Given the description of an element on the screen output the (x, y) to click on. 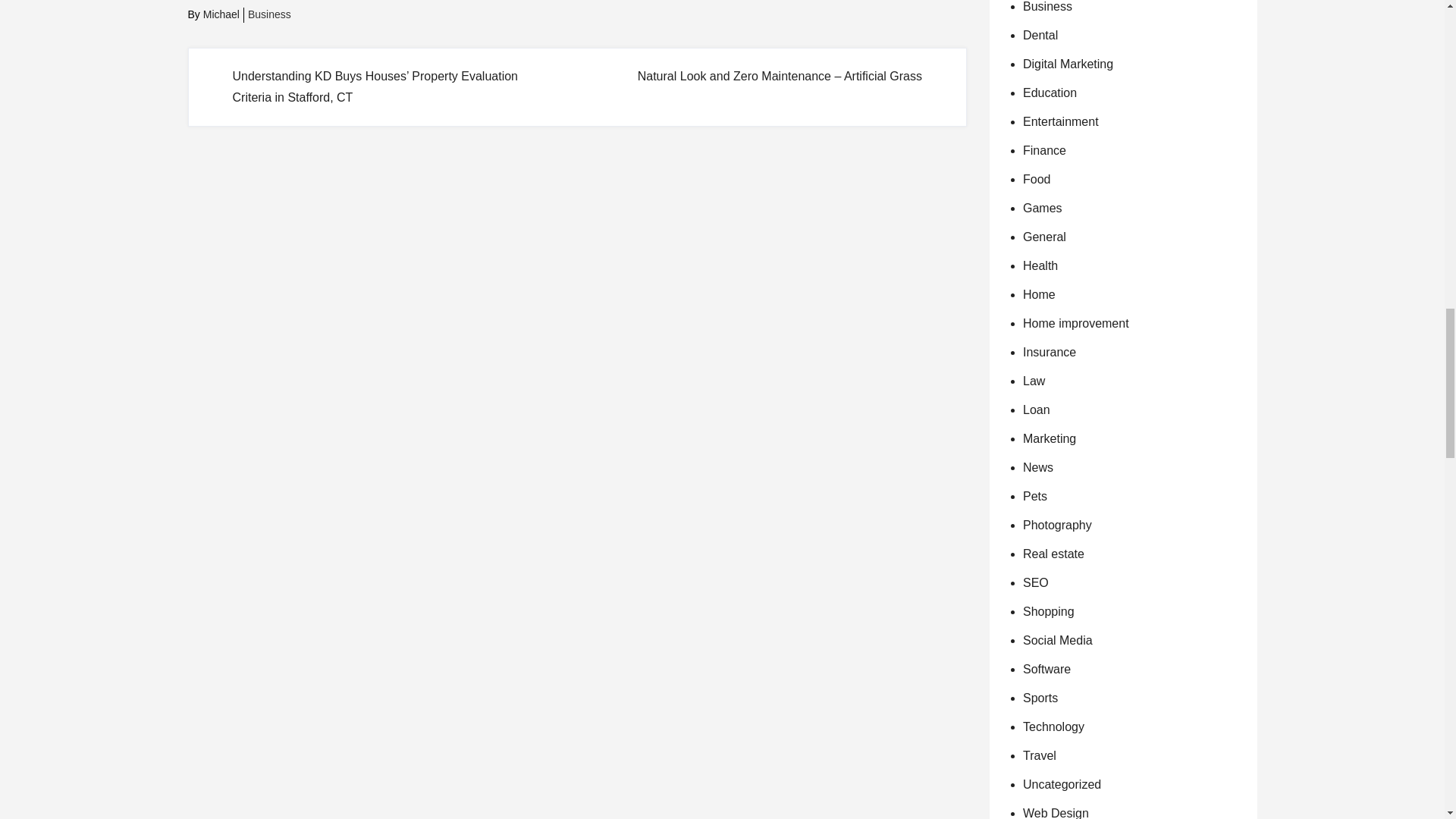
Finance (1044, 150)
Michael (221, 14)
Health (1040, 265)
Digital Marketing (1068, 63)
Insurance (1049, 351)
General (1044, 236)
News (1037, 467)
Pets (1034, 495)
Loan (1036, 409)
Games (1042, 207)
Food (1036, 178)
Dental (1040, 34)
Home improvement (1076, 323)
Marketing (1049, 438)
Entertainment (1061, 121)
